Given the description of an element on the screen output the (x, y) to click on. 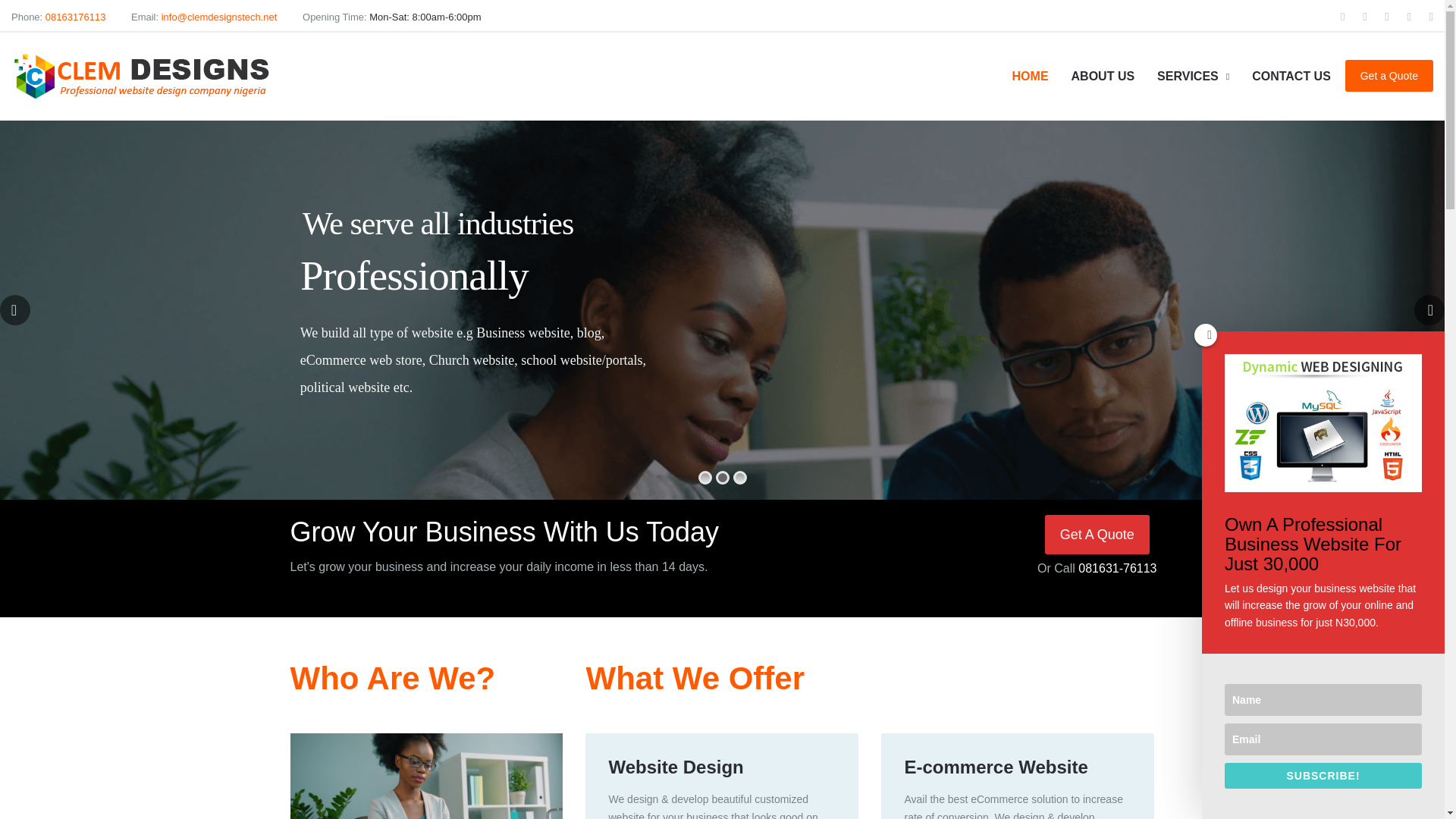
08163176113 (75, 16)
SERVICES (1192, 76)
VIEW MORE (1017, 770)
Get A Quote (1097, 534)
ABOUT US (1103, 76)
HOME (1029, 76)
Get a Quote (1388, 75)
CONTACT US (1291, 76)
VIEW MORE (721, 770)
